Given the description of an element on the screen output the (x, y) to click on. 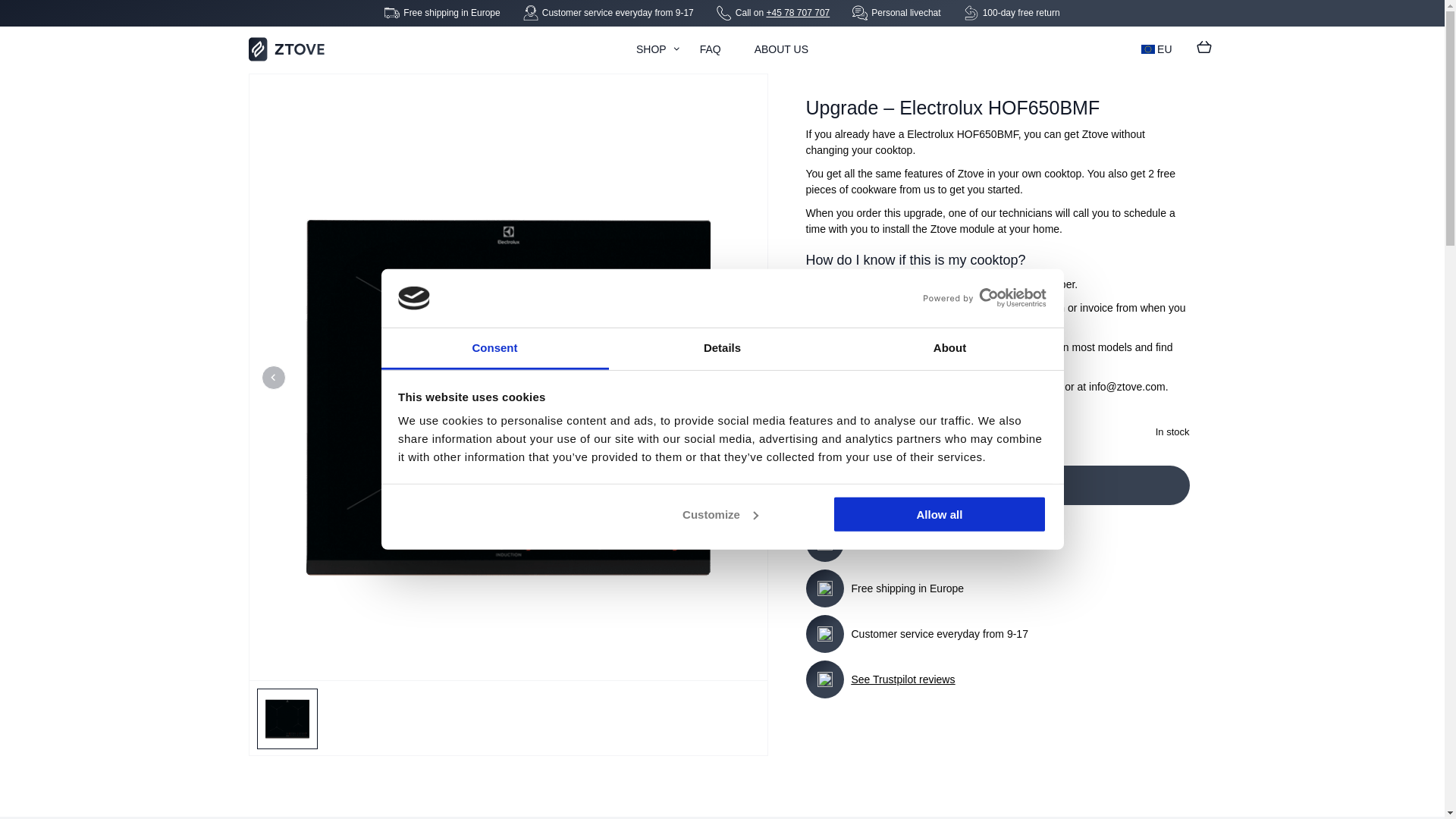
Consent (494, 349)
Details (721, 349)
Add to cart (997, 485)
About (948, 349)
